Given the description of an element on the screen output the (x, y) to click on. 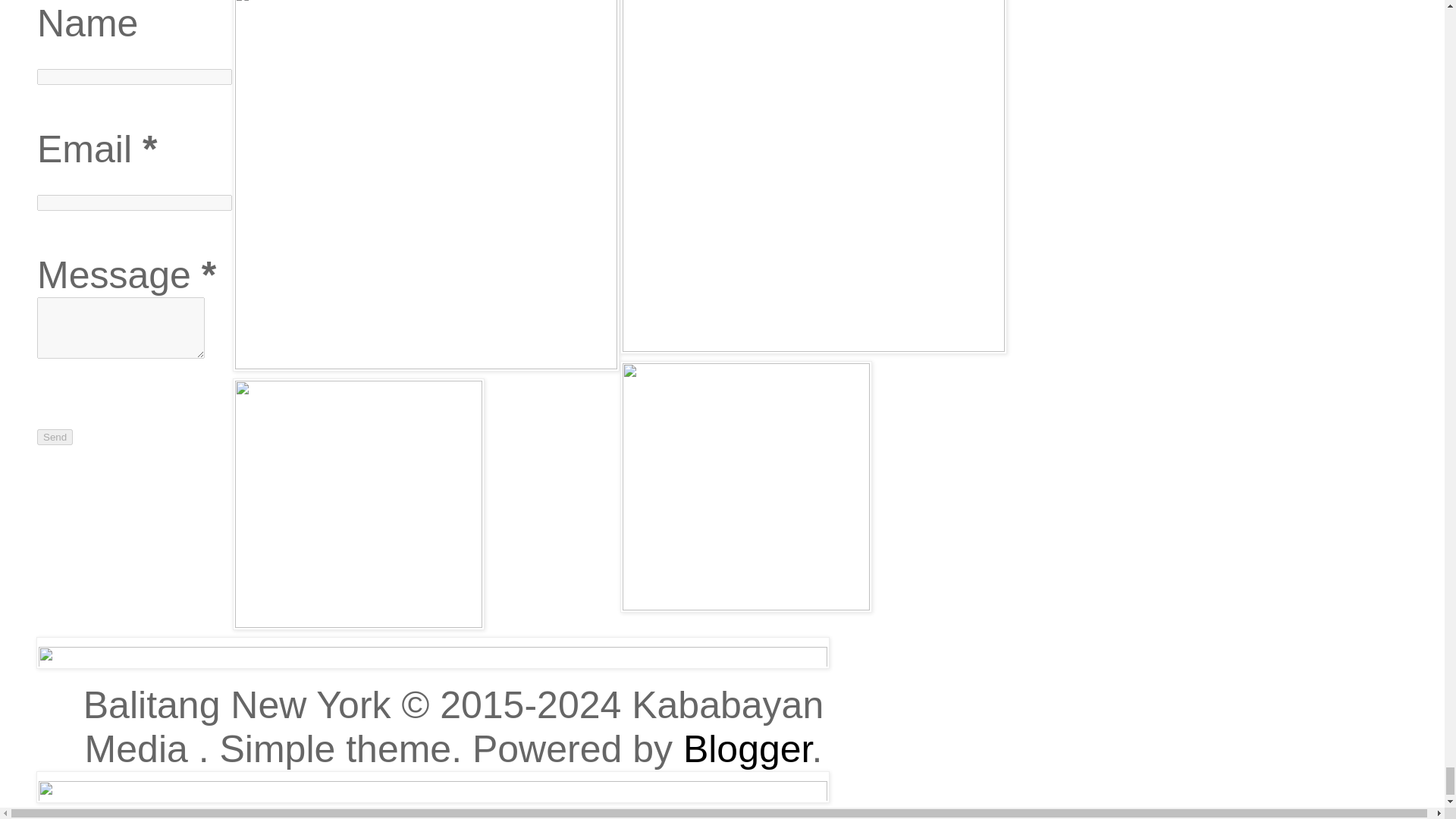
Send (54, 437)
